Given the description of an element on the screen output the (x, y) to click on. 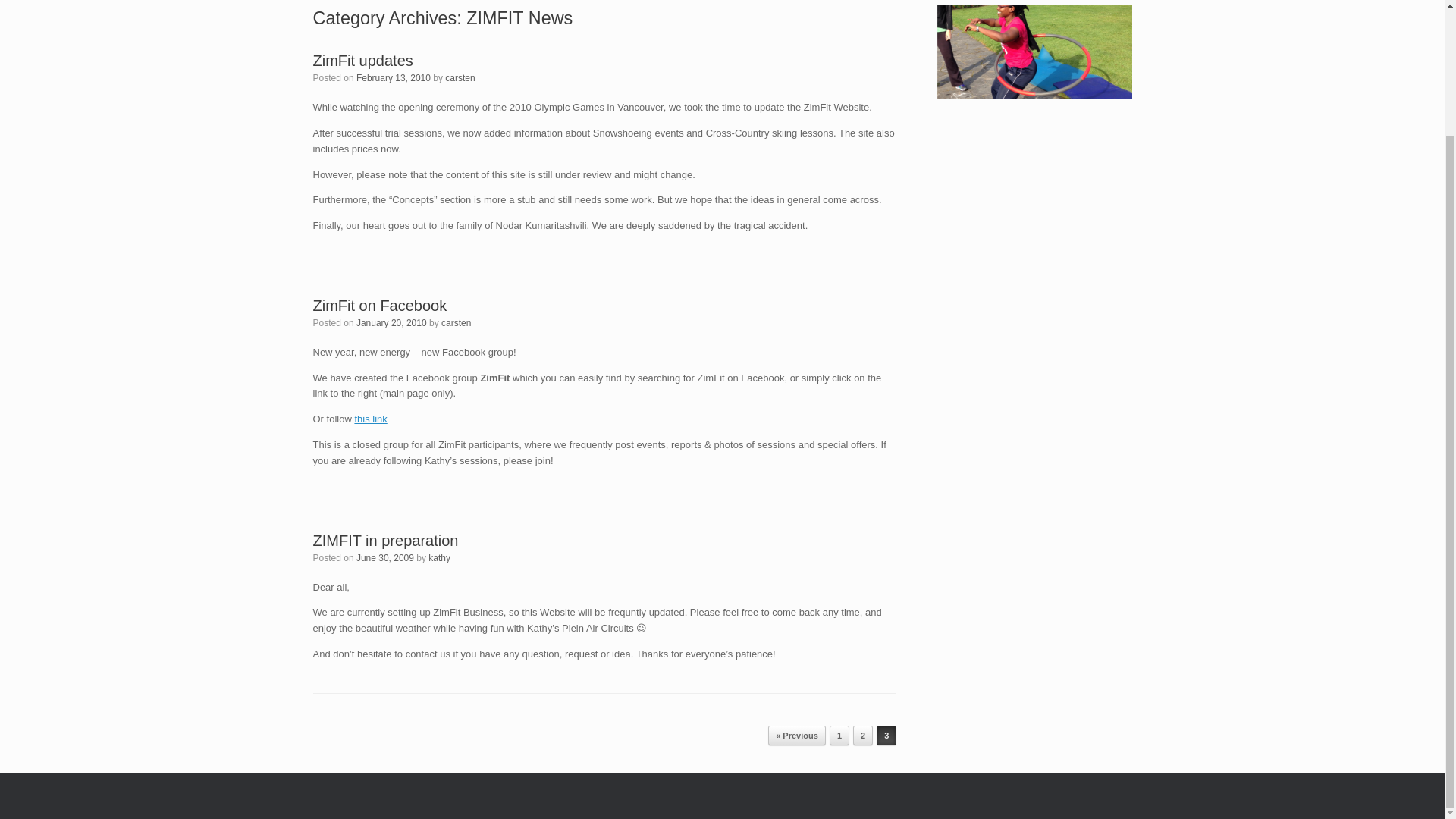
January 20, 2010 (391, 322)
carsten (455, 322)
Permalink to ZIMFIT in preparation (385, 540)
2 (862, 735)
ZIMFIT in preparation (385, 540)
carsten (459, 77)
ZimFit on Facebook (379, 305)
08:42 (391, 322)
08:12 (384, 557)
ZimFit updates (362, 60)
